Given the description of an element on the screen output the (x, y) to click on. 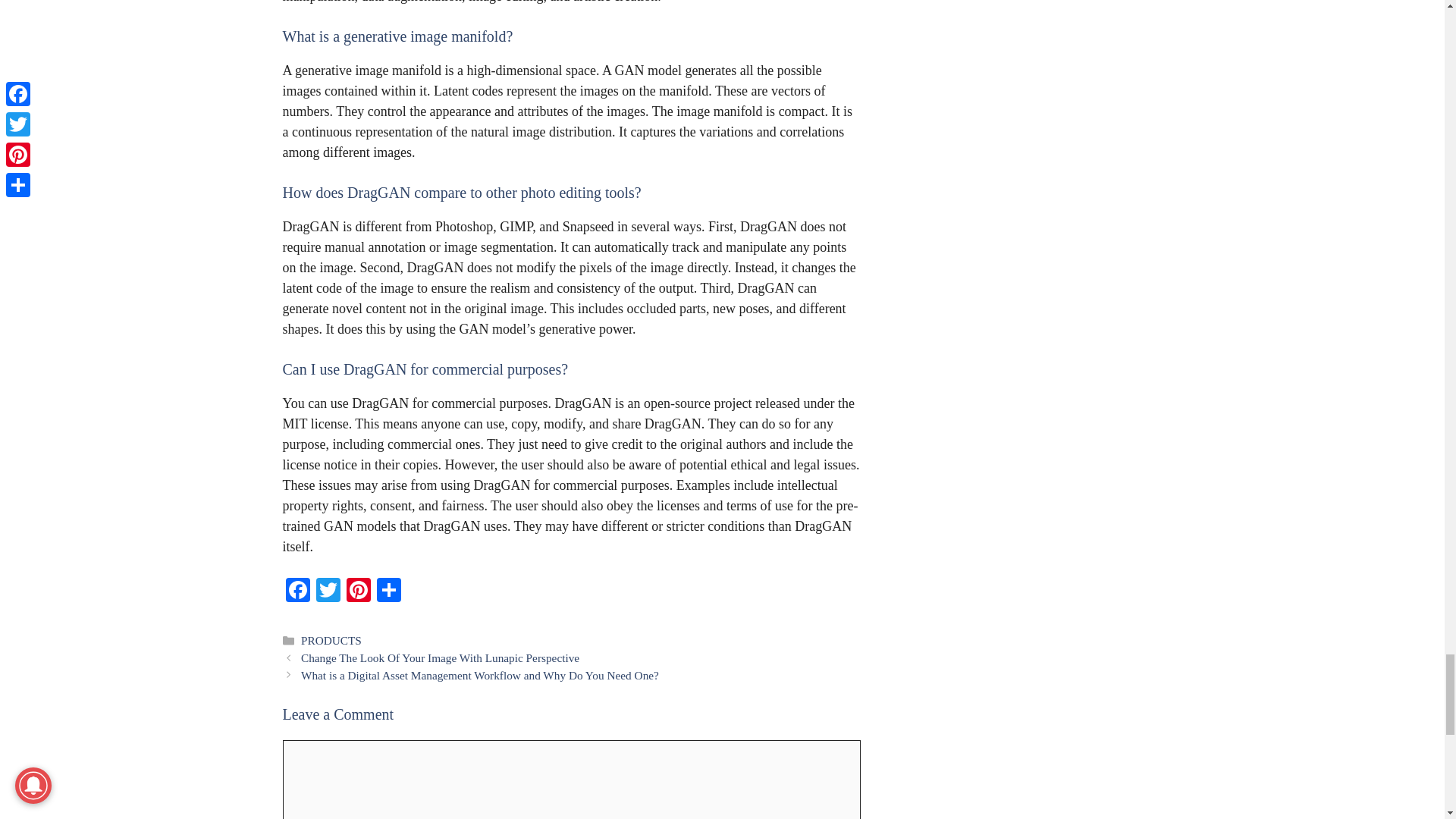
Facebook (297, 592)
PRODUCTS (331, 640)
Share (387, 592)
Pinterest (357, 592)
Twitter (327, 592)
Change The Look Of Your Image With Lunapic Perspective (440, 657)
